Given the description of an element on the screen output the (x, y) to click on. 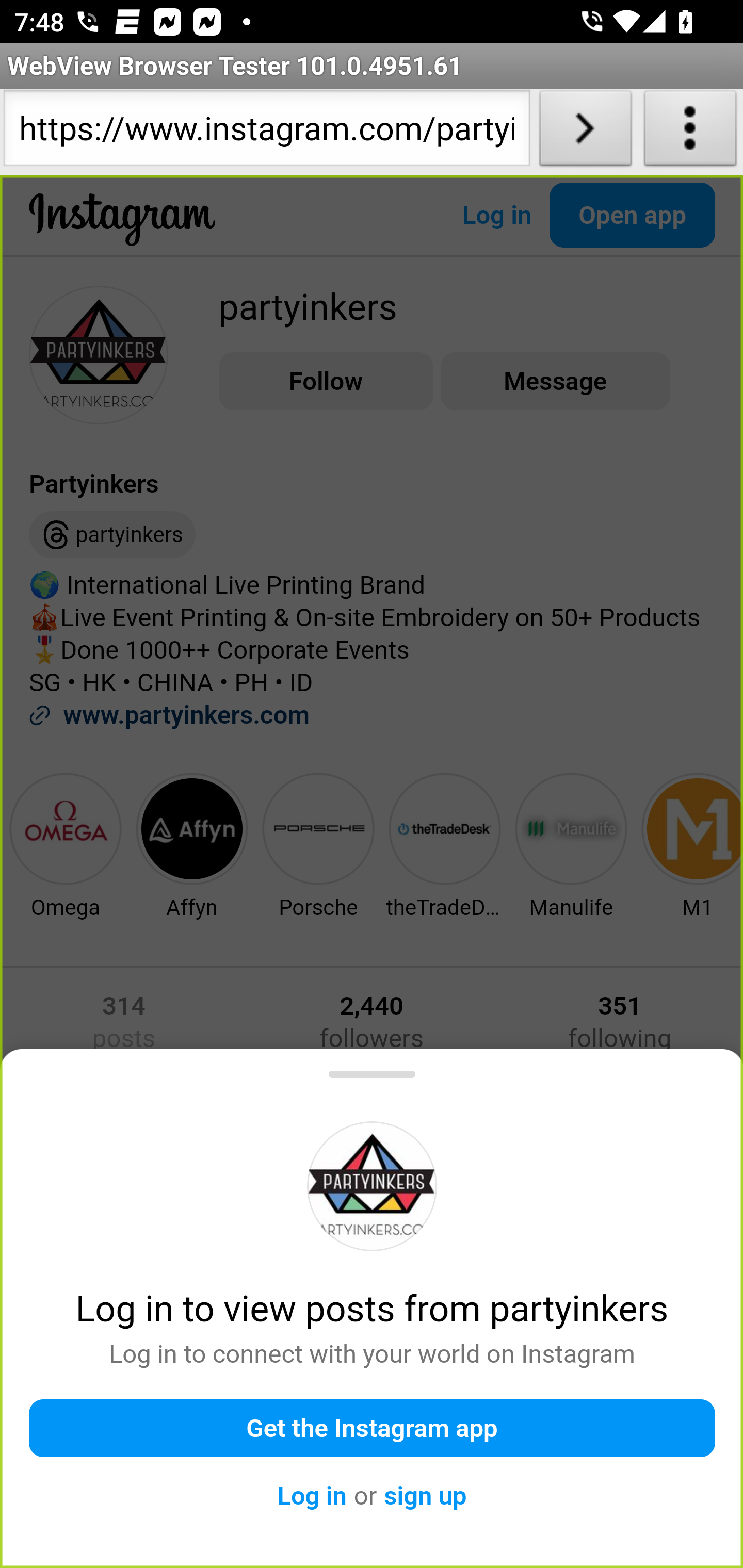
Load URL (585, 132)
About WebView (690, 132)
Get the Instagram app (372, 1428)
Log in (312, 1495)
sign up (424, 1495)
